Given the description of an element on the screen output the (x, y) to click on. 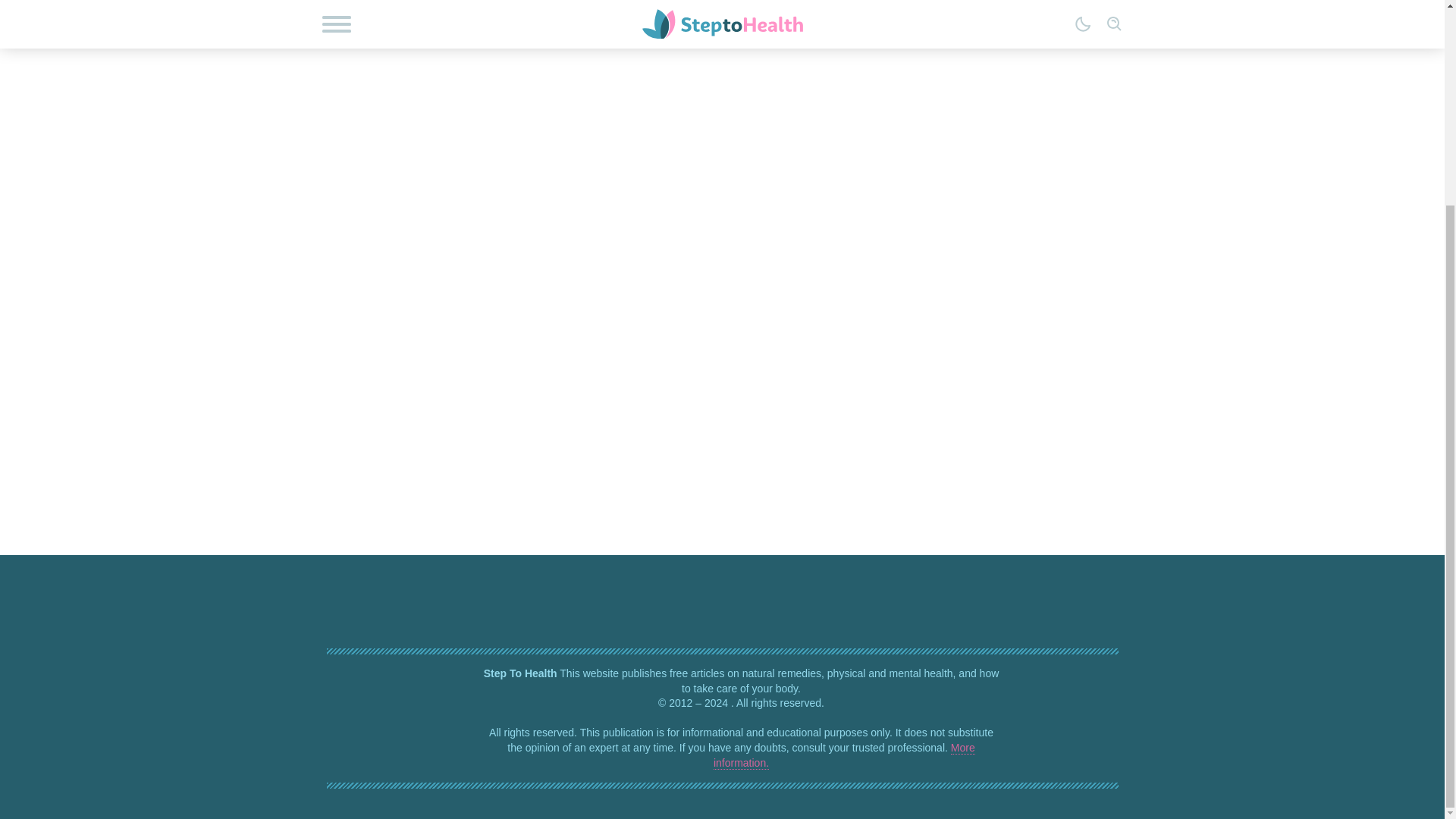
More information. (844, 755)
